Given the description of an element on the screen output the (x, y) to click on. 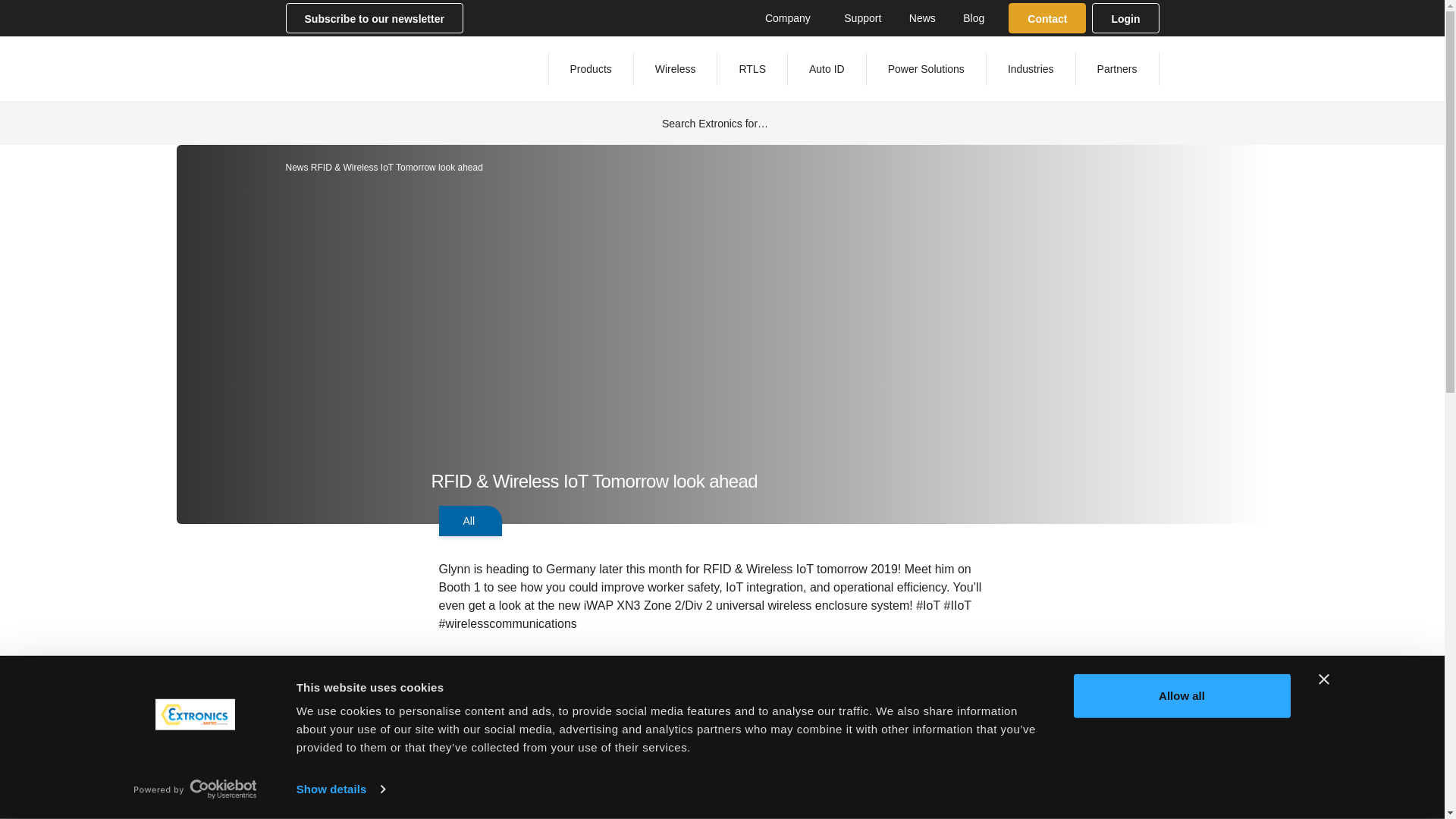
Show details (340, 789)
Support (862, 17)
Allow all (1182, 696)
Company (790, 17)
